Given the description of an element on the screen output the (x, y) to click on. 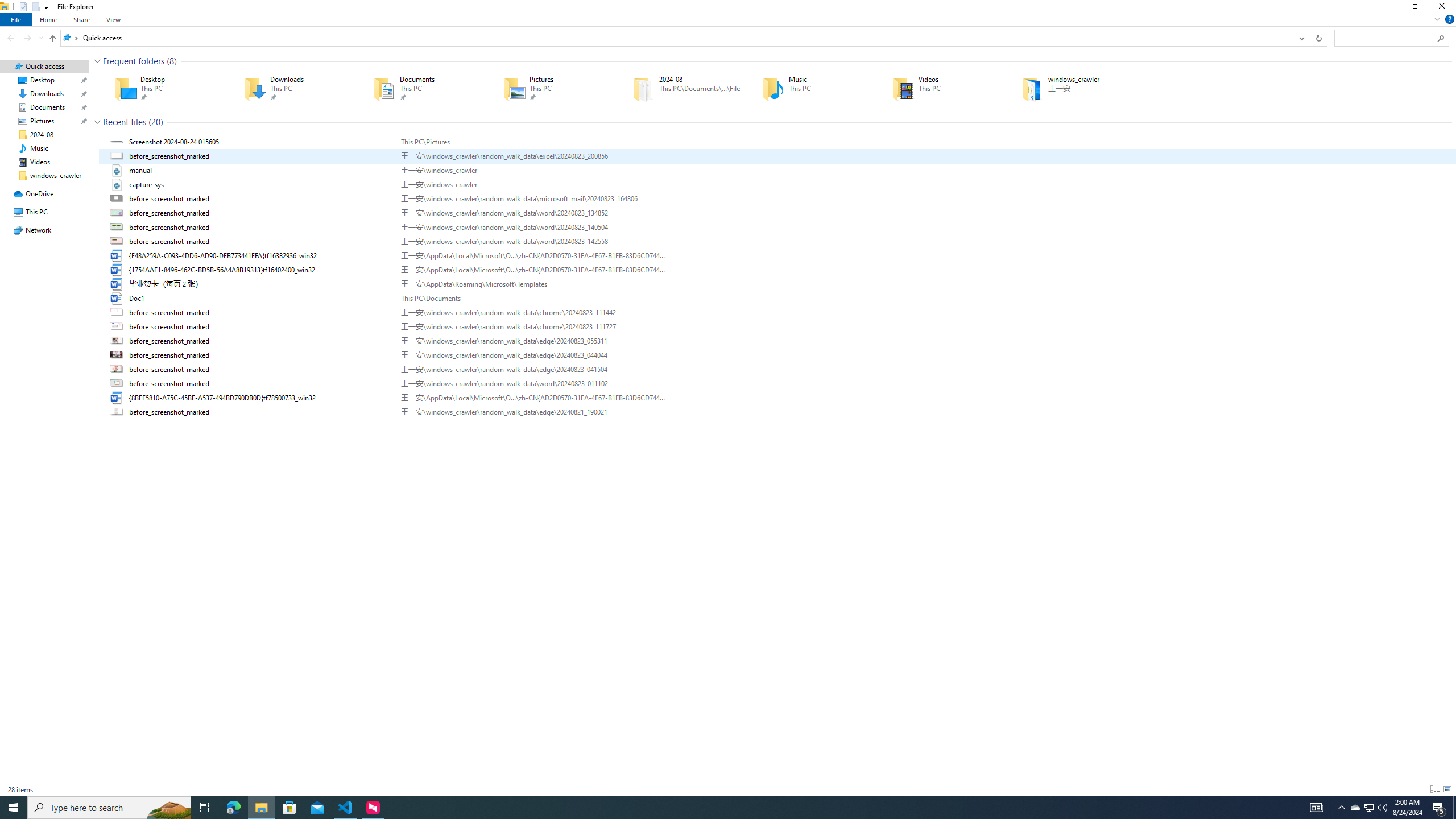
Help (1449, 19)
Documents (422, 88)
Downloads (292, 88)
before_screenshot_marked (777, 411)
Forward (Alt + Right Arrow) (27, 37)
capture_sys (777, 184)
Up to "Desktop" (Alt + Up Arrow) (52, 38)
Customize Quick Access Toolbar (45, 6)
windows_crawler (1070, 88)
View (113, 19)
Recent locations (40, 37)
Share (81, 19)
Collapse Group (97, 121)
